Given the description of an element on the screen output the (x, y) to click on. 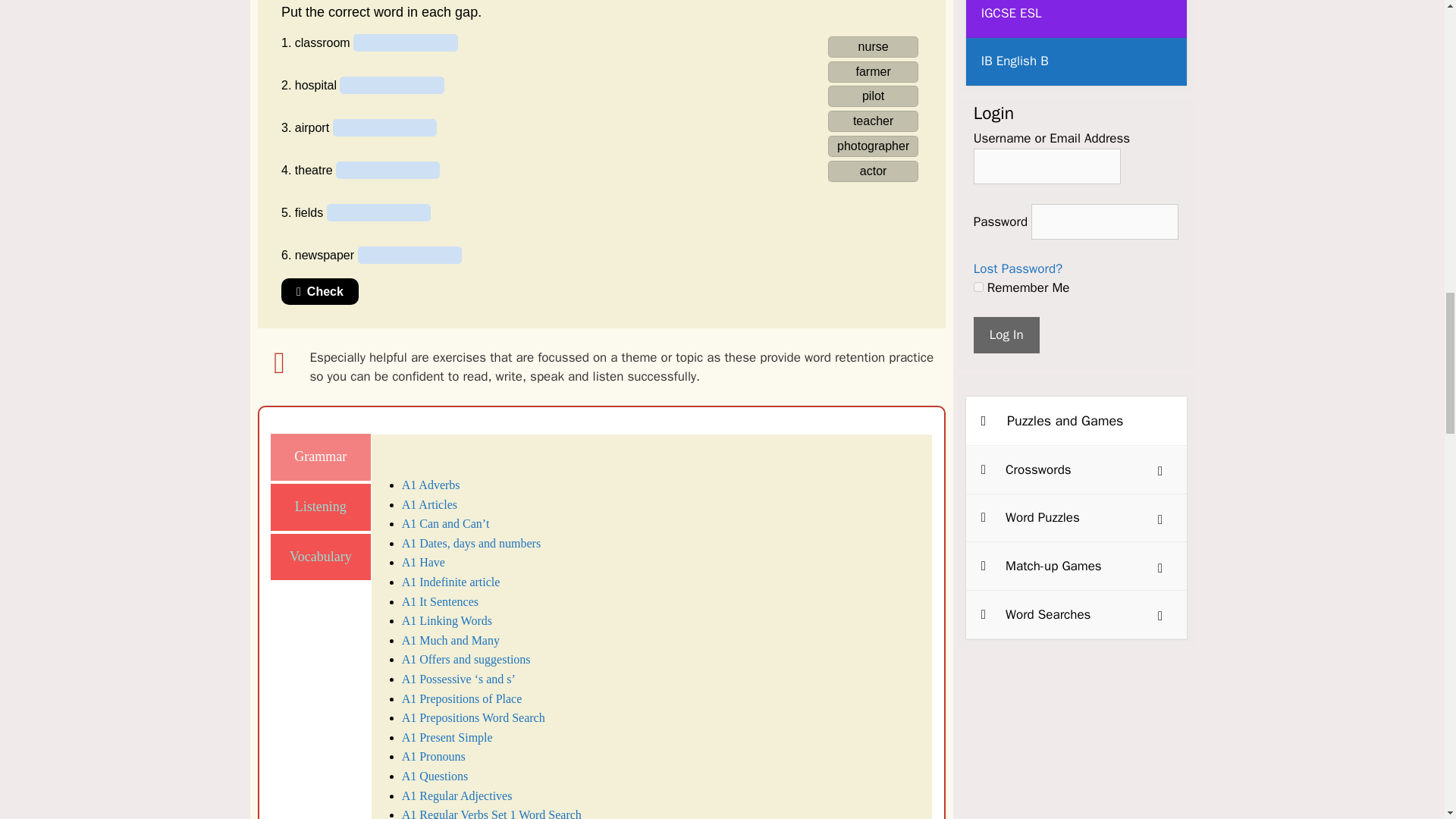
A1 It Sentences (440, 601)
A1 Dates, days and numbers (471, 543)
Listening (320, 507)
Log In (1006, 334)
Grammar (320, 457)
A1 Much and Many (450, 640)
Vocabulary (320, 556)
A1 Linking Words (446, 620)
A1 Adverbs (430, 484)
A1 Indefinite article (450, 581)
A1 Articles (429, 504)
A1 Offers and suggestions (466, 658)
forever (979, 286)
A1 Have (423, 562)
